Given the description of an element on the screen output the (x, y) to click on. 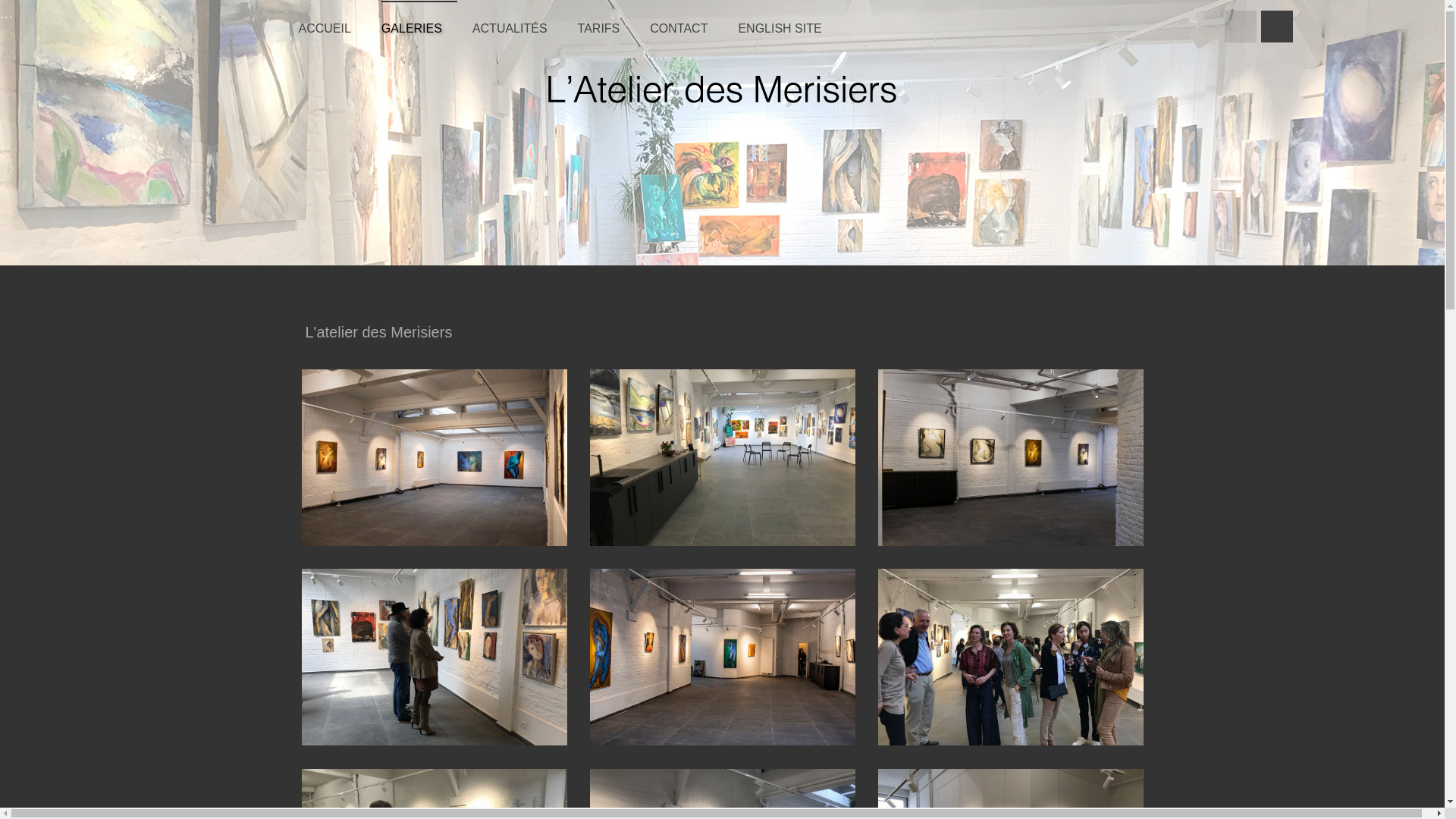
CONTACT Element type: text (685, 22)
L'atelier des Merisiers Element type: text (378, 333)
TARIFS Element type: text (606, 22)
L'atelier des Merisiers - Espace exposition artistes Element type: hover (722, 90)
GALERIES Element type: text (419, 22)
ENGLISH SITE Element type: text (786, 22)
ACCUEIL Element type: text (332, 22)
